Given the description of an element on the screen output the (x, y) to click on. 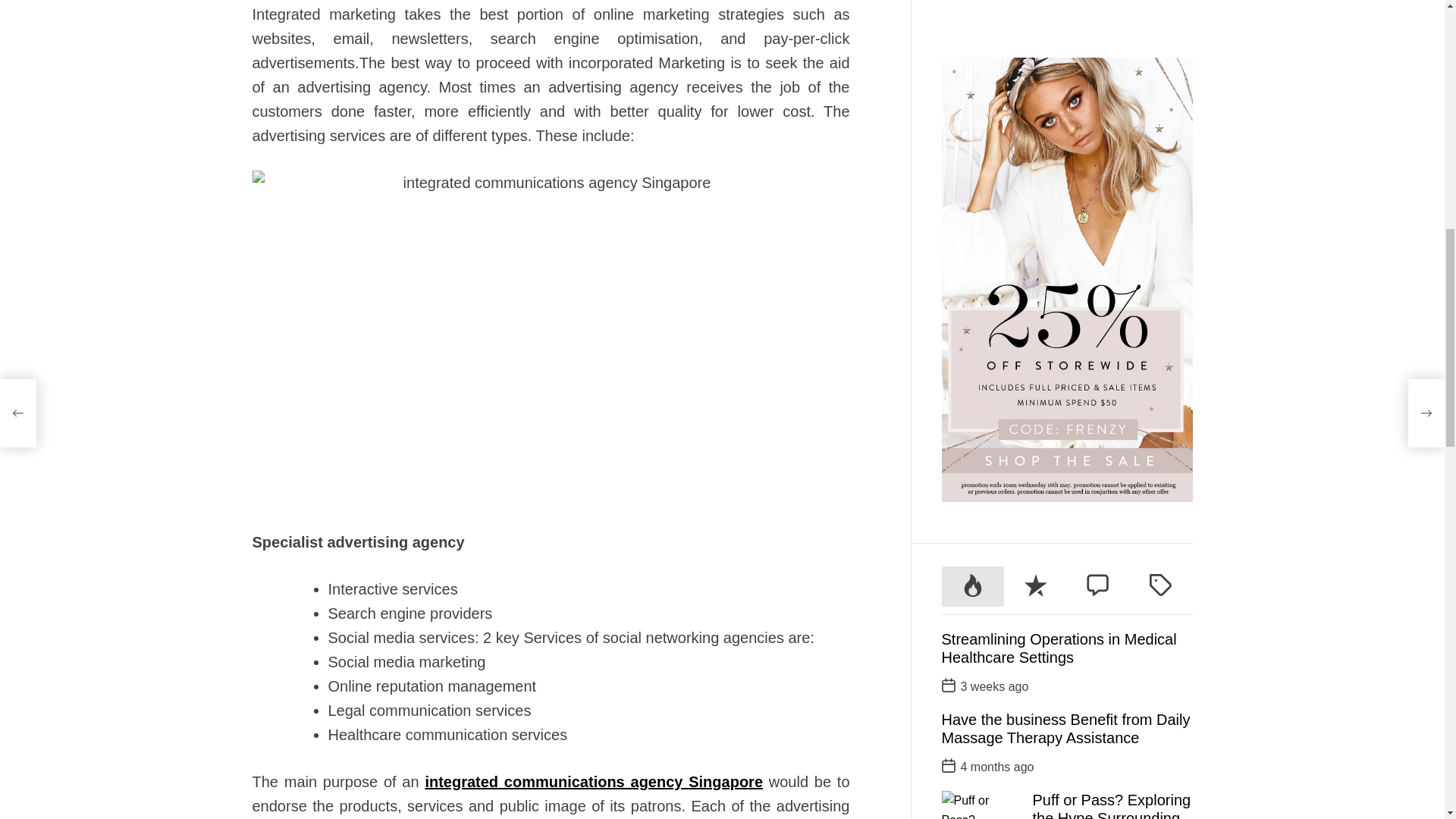
Streamlining Operations in Medical Healthcare Settings (1059, 126)
Tagged (1160, 65)
Comment (1098, 65)
integrated communications agency Singapore (593, 781)
Recent (1035, 65)
Popular (973, 65)
